Given the description of an element on the screen output the (x, y) to click on. 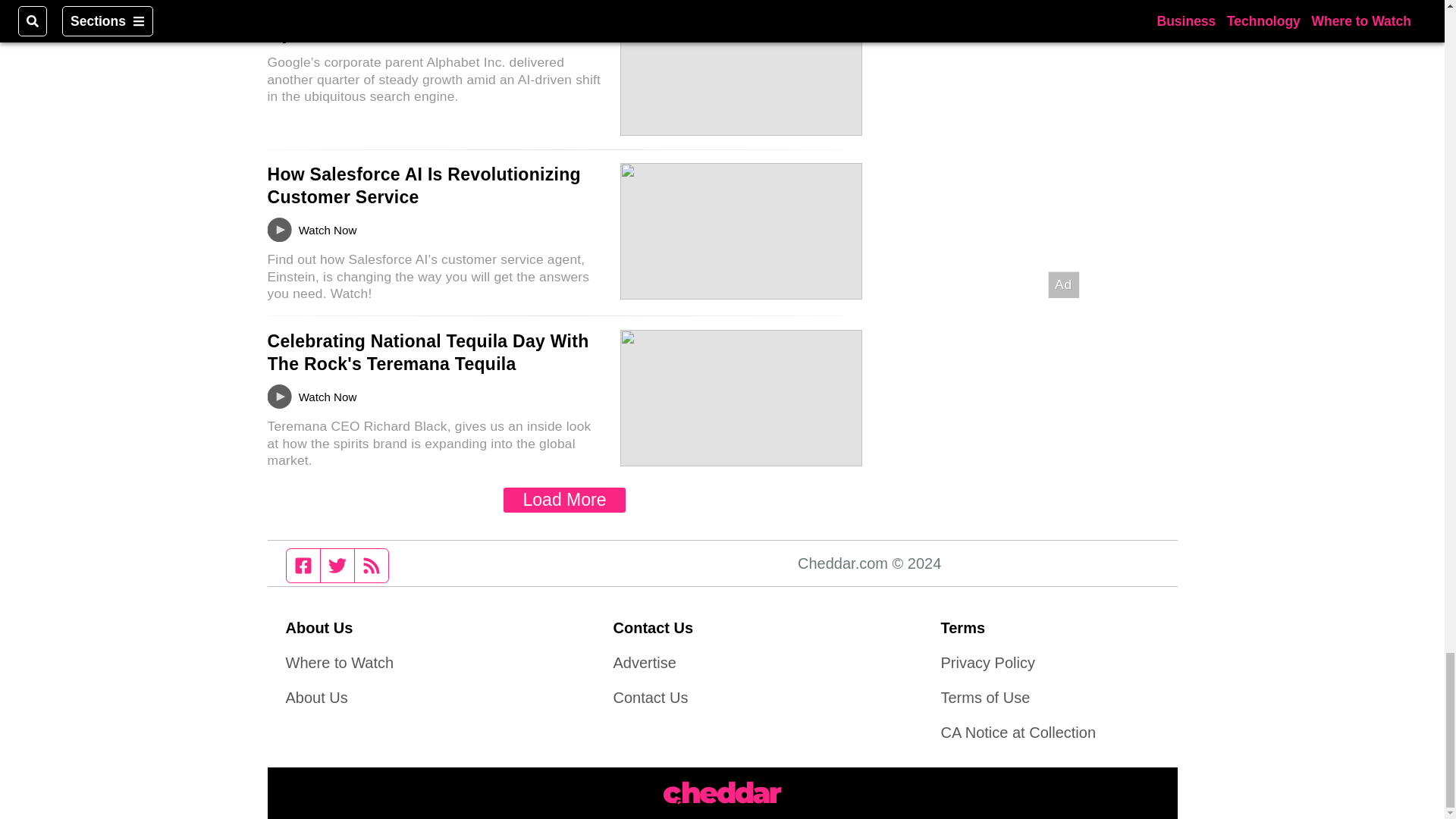
Facebook page (303, 565)
Twitter feed (336, 565)
RSS feed (371, 565)
How Salesforce AI Is Revolutionizing Customer Service (422, 185)
Alphabet Prospering on AI Search Injection (411, 21)
